Given the description of an element on the screen output the (x, y) to click on. 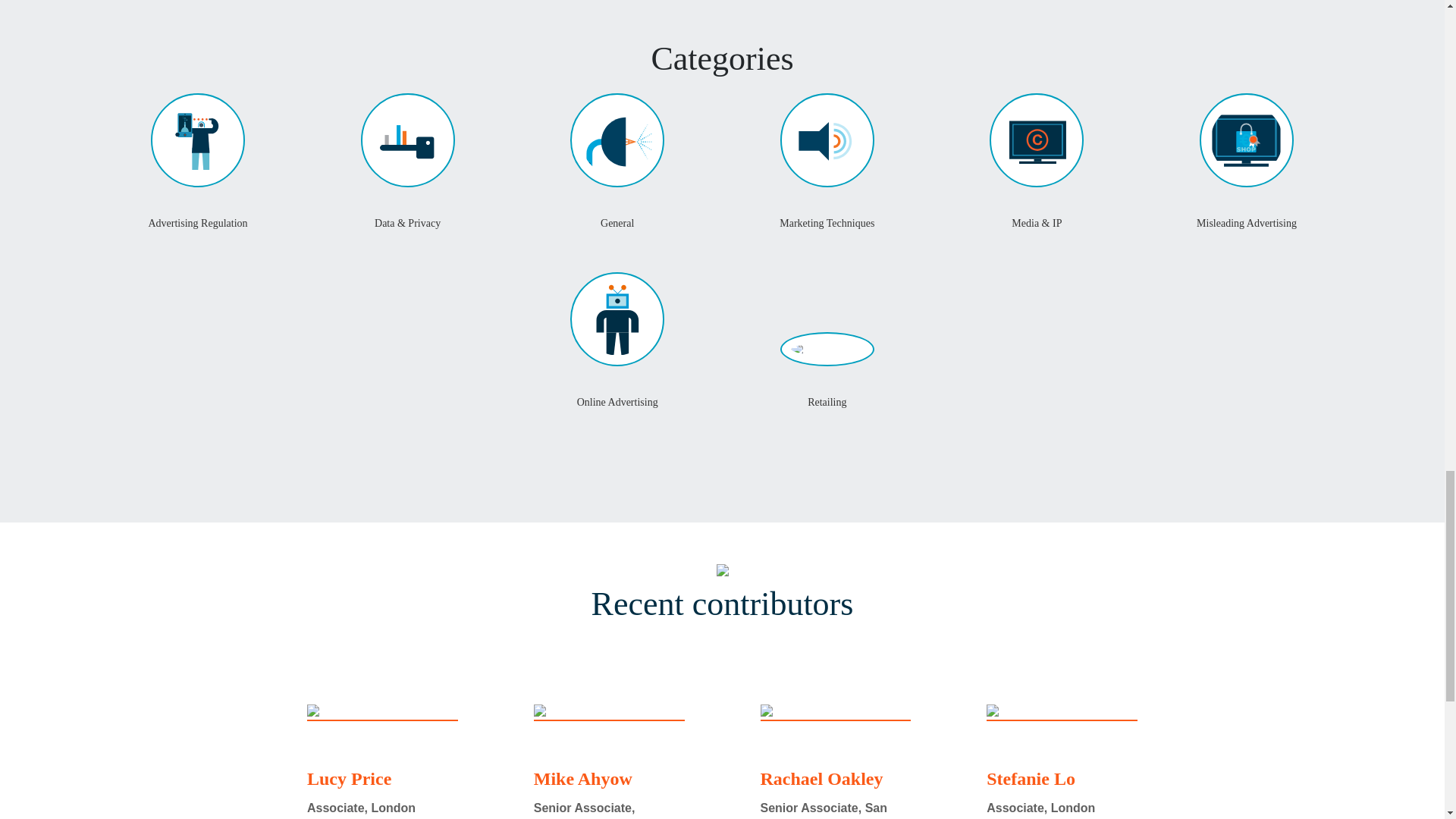
Advertising Regulation (197, 226)
Marketing Techniques (827, 226)
General (617, 226)
